Given the description of an element on the screen output the (x, y) to click on. 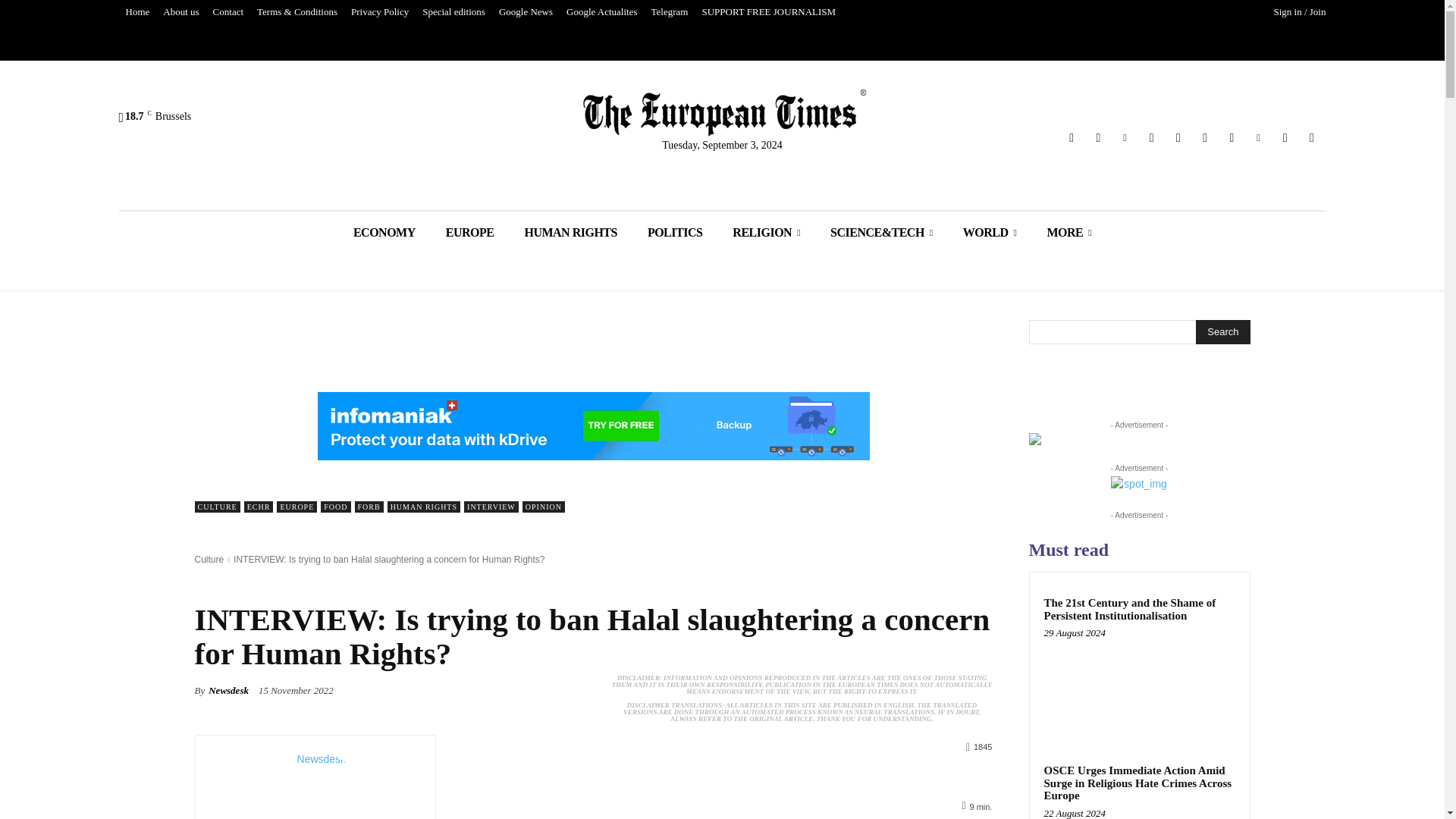
Special editions (453, 12)
Google News (525, 12)
Contact (228, 12)
Home (136, 12)
Privacy Policy (378, 12)
About us (180, 12)
